Given the description of an element on the screen output the (x, y) to click on. 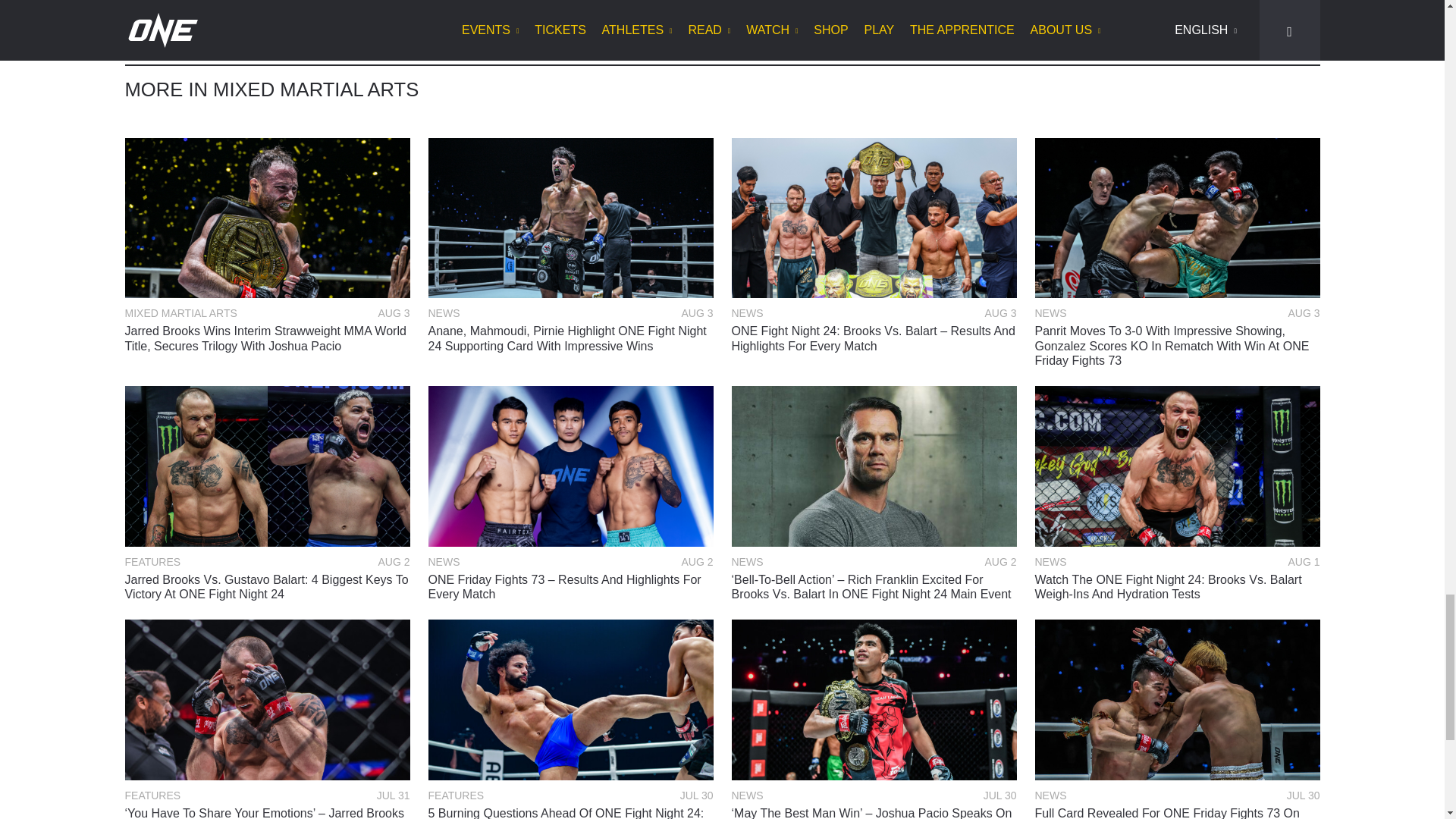
Full Card Revealed For ONE Friday Fights 73 On August 2 (1176, 812)
